Given the description of an element on the screen output the (x, y) to click on. 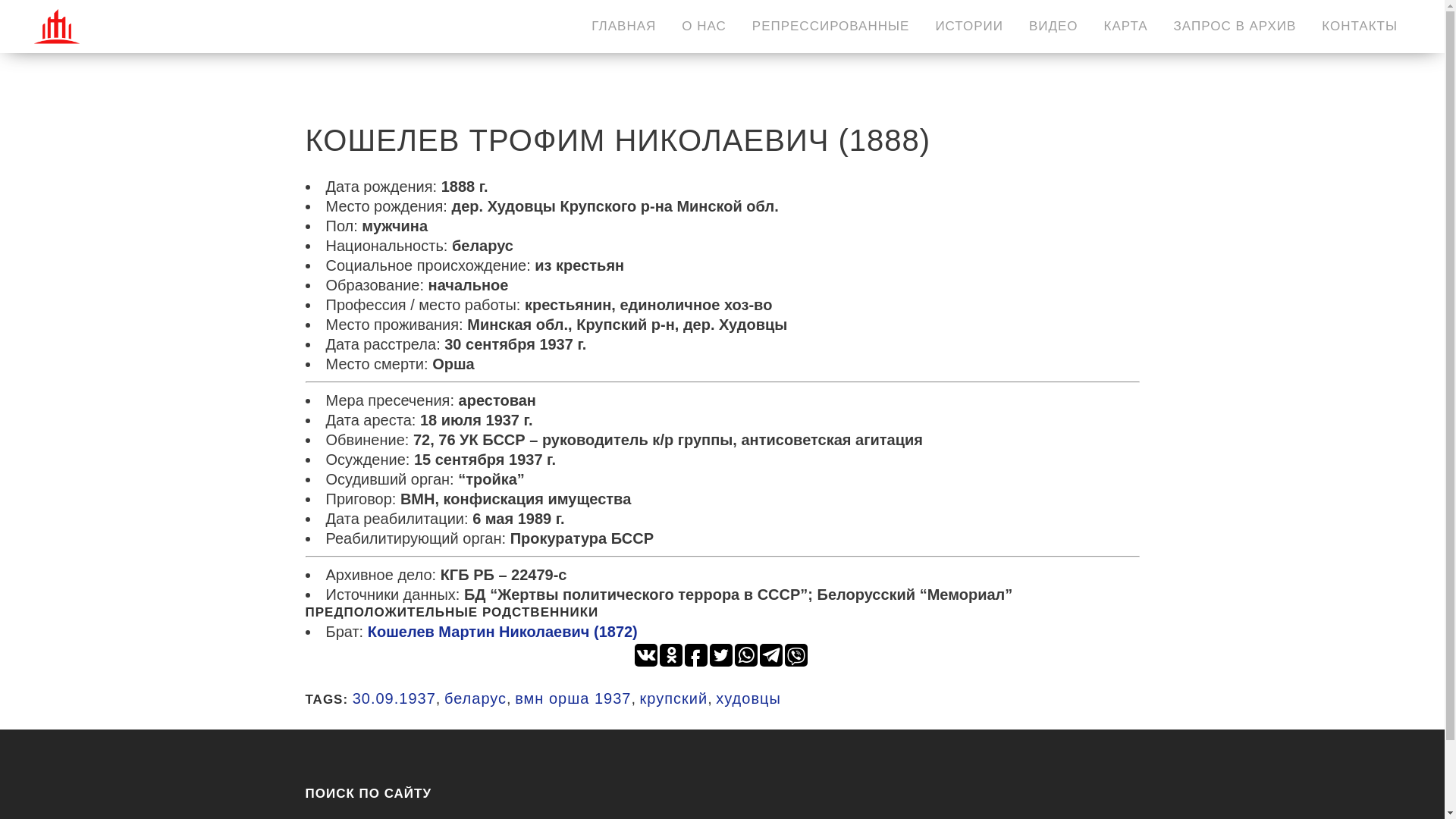
30.09.1937 Element type: text (394, 698)
